Given the description of an element on the screen output the (x, y) to click on. 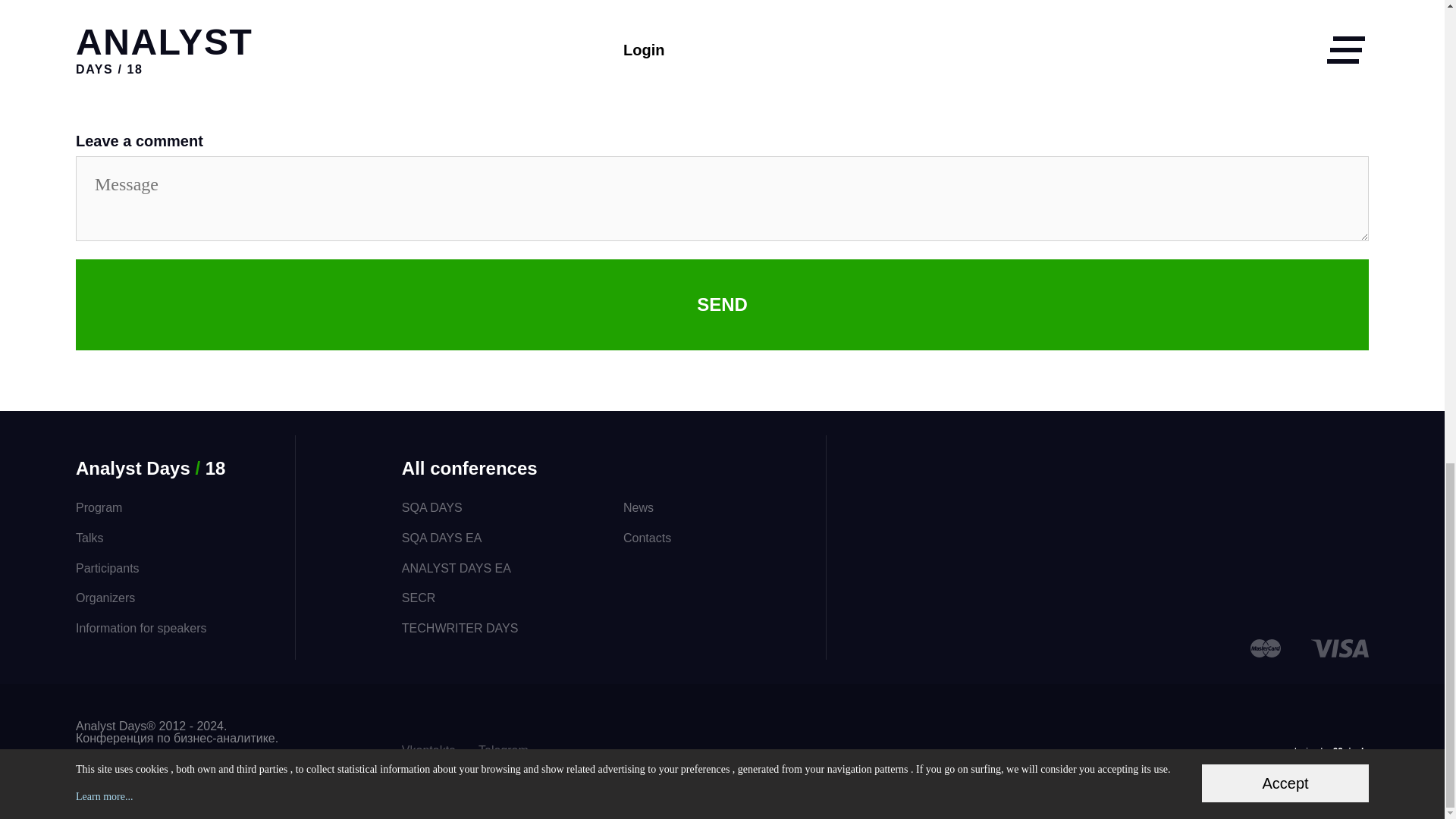
SEND (721, 304)
